Given the description of an element on the screen output the (x, y) to click on. 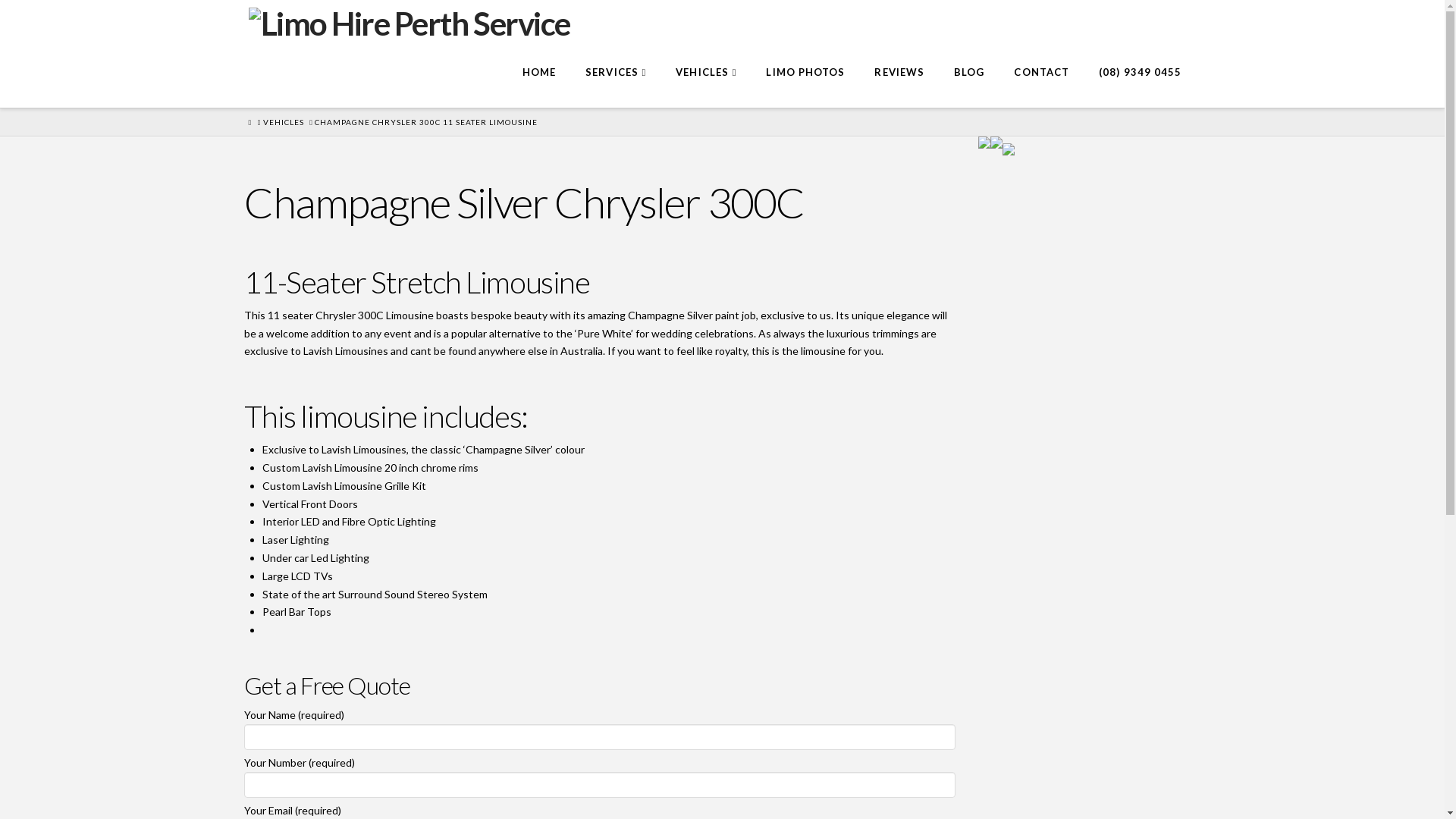
VEHICLES Element type: text (283, 121)
VEHICLES Element type: text (705, 73)
SERVICES Element type: text (615, 73)
HOME Element type: text (538, 73)
CONTACT Element type: text (1040, 73)
HOME Element type: text (250, 122)
LIMO PHOTOS Element type: text (804, 73)
CHAMPAGNE CHRYSLER 300C 11 SEATER LIMOUSINE Element type: text (425, 121)
REVIEWS Element type: text (898, 73)
(08) 9349 0455 Element type: text (1139, 73)
BLOG Element type: text (968, 73)
